Given the description of an element on the screen output the (x, y) to click on. 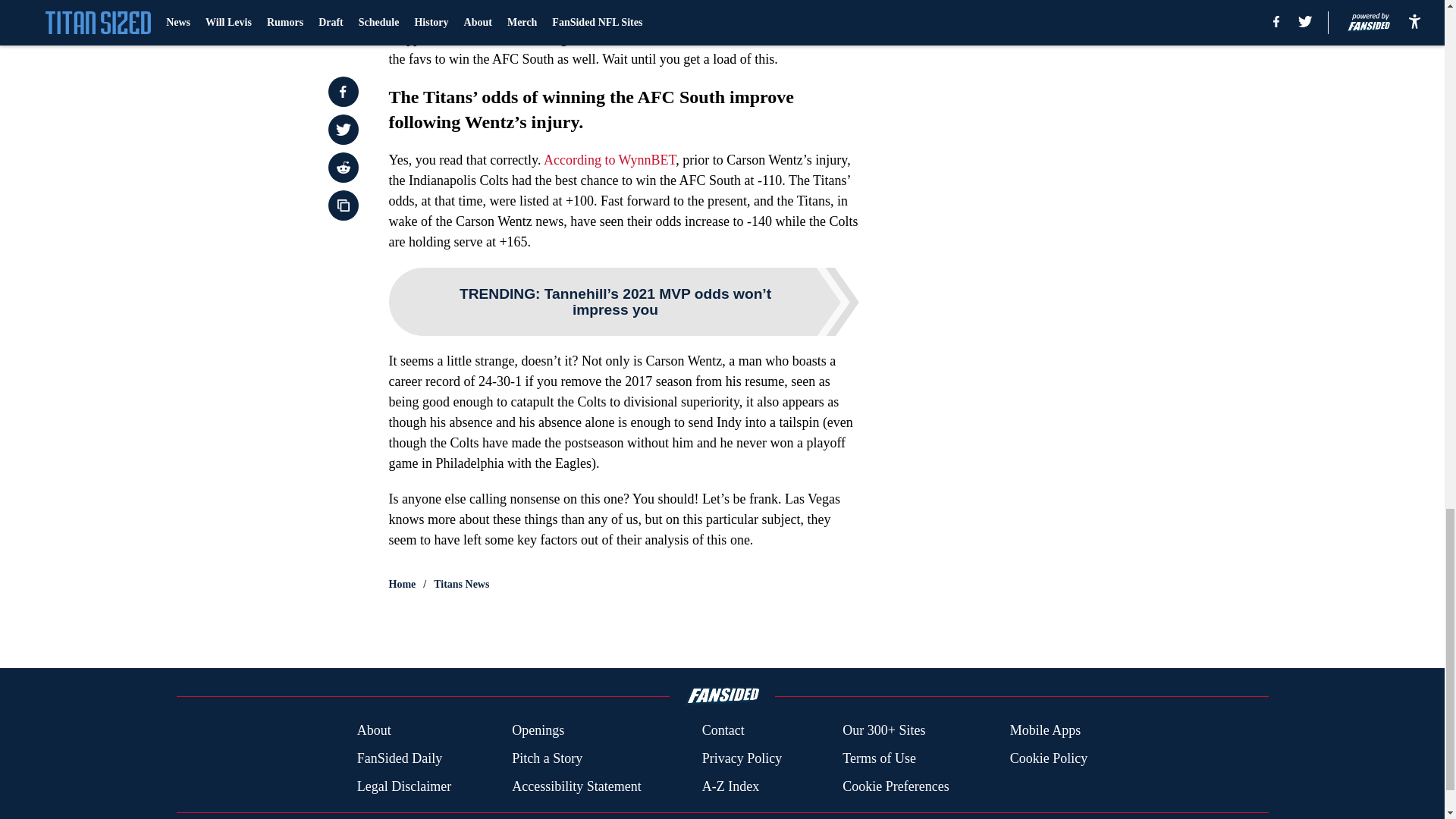
Mobile Apps (1045, 730)
FanSided Daily (399, 758)
About (373, 730)
Privacy Policy (742, 758)
Titans News (461, 584)
Contact (722, 730)
Openings (538, 730)
Home (401, 584)
According to WynnBET (609, 159)
Pitch a Story (547, 758)
